Given the description of an element on the screen output the (x, y) to click on. 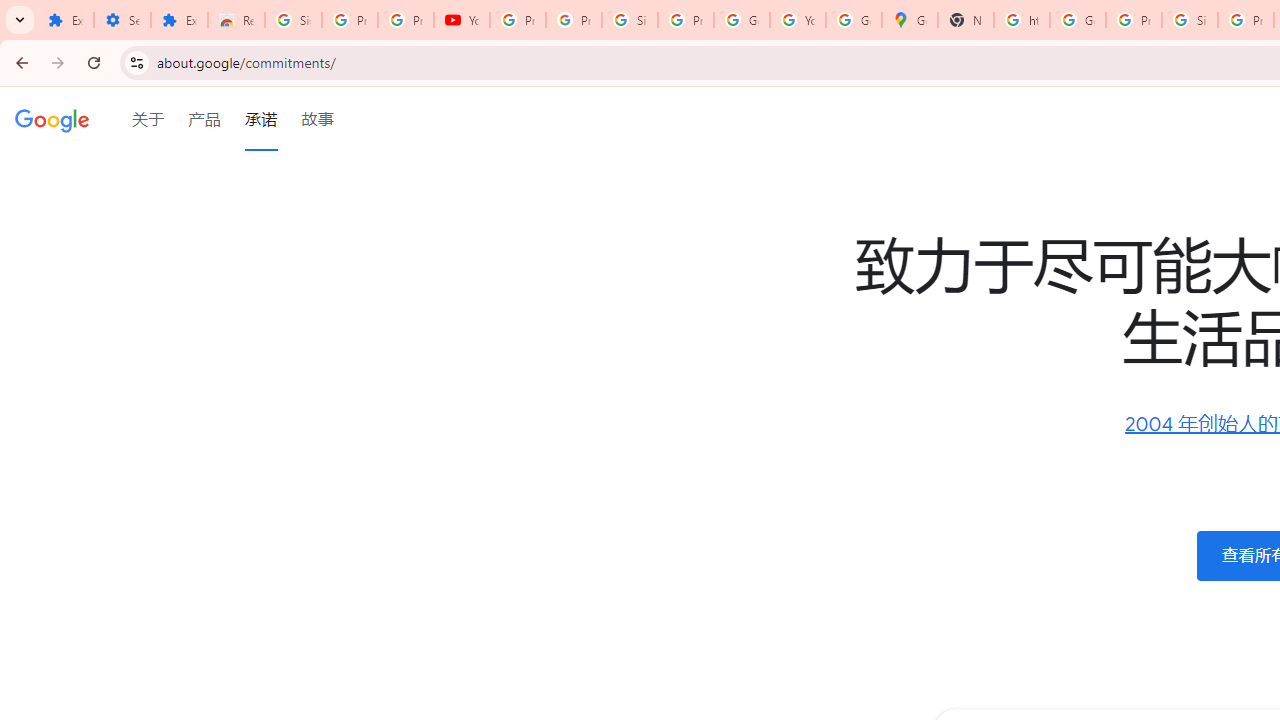
https://scholar.google.com/ (1021, 20)
Settings (122, 20)
